Given the description of an element on the screen output the (x, y) to click on. 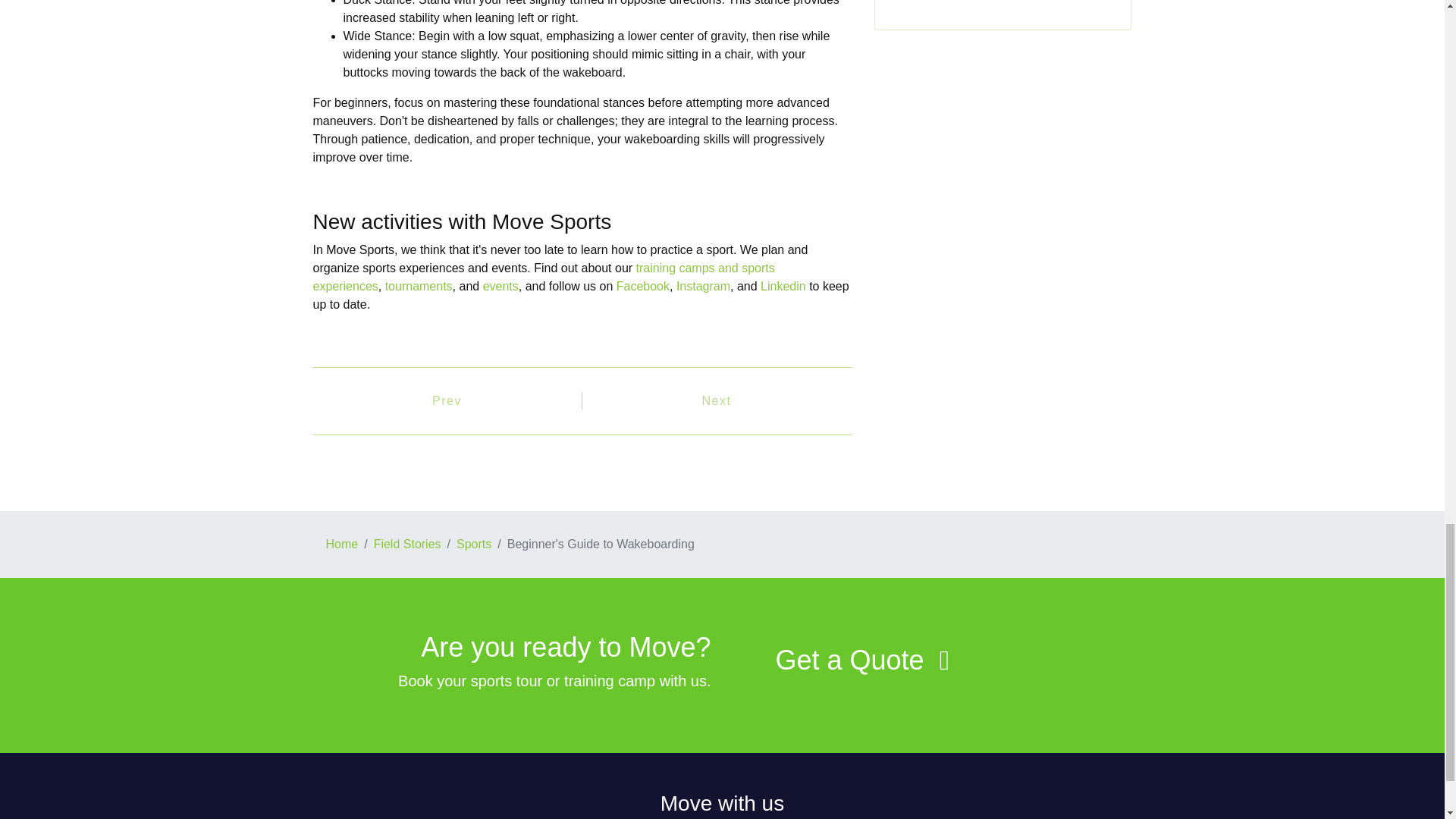
Get your fitness groove after the holidays (446, 401)
training camps and sports experiences (543, 276)
Running in the summer: precautions you should take (716, 401)
tournaments (418, 286)
Next (716, 401)
Prev (446, 401)
events (500, 286)
Instagram (703, 286)
Facebook (642, 286)
Linkedin (783, 286)
